Given the description of an element on the screen output the (x, y) to click on. 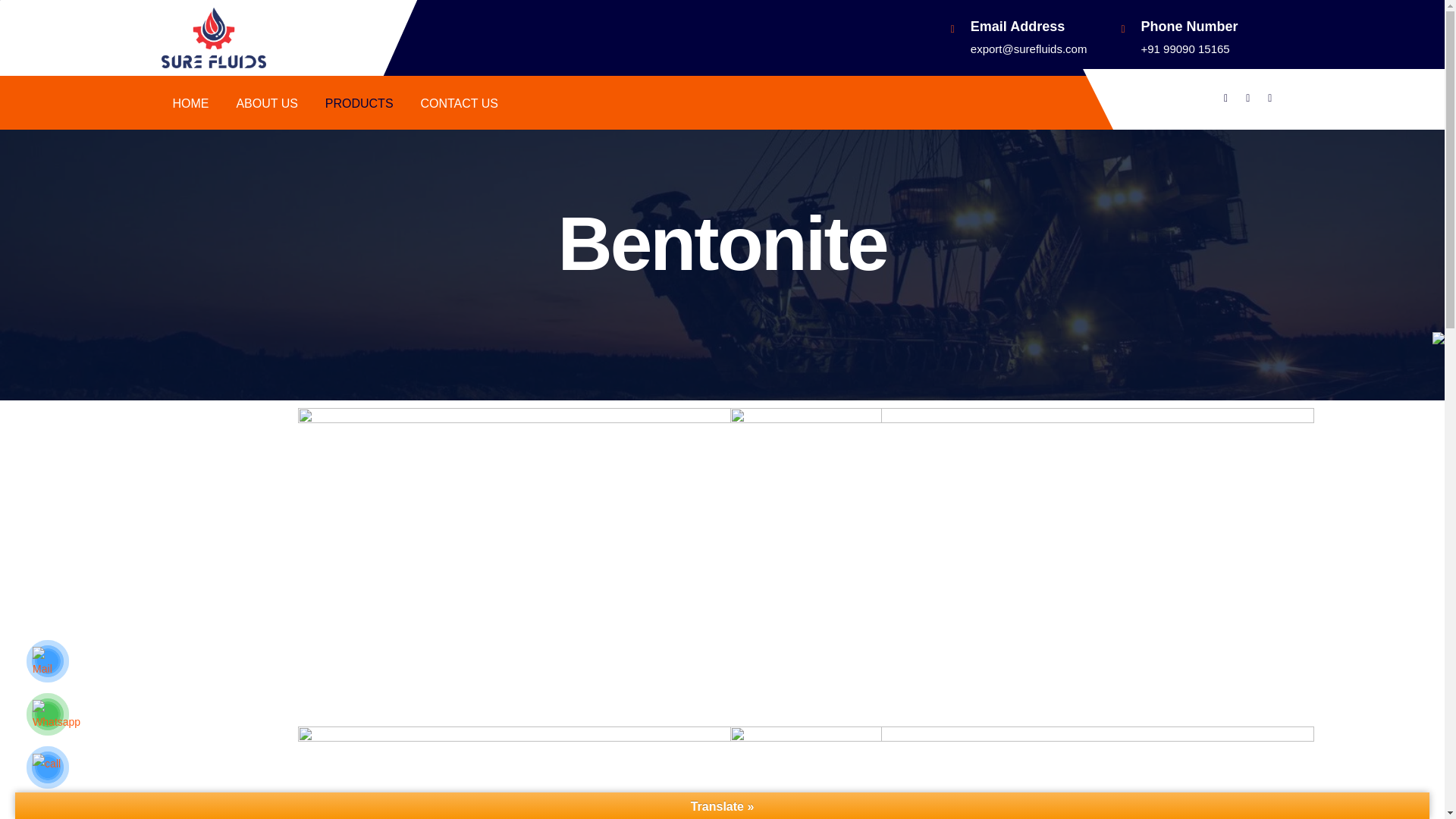
CONTACT US (458, 103)
HOME (191, 103)
ABOUT US (266, 103)
PRODUCTS (358, 103)
